Given the description of an element on the screen output the (x, y) to click on. 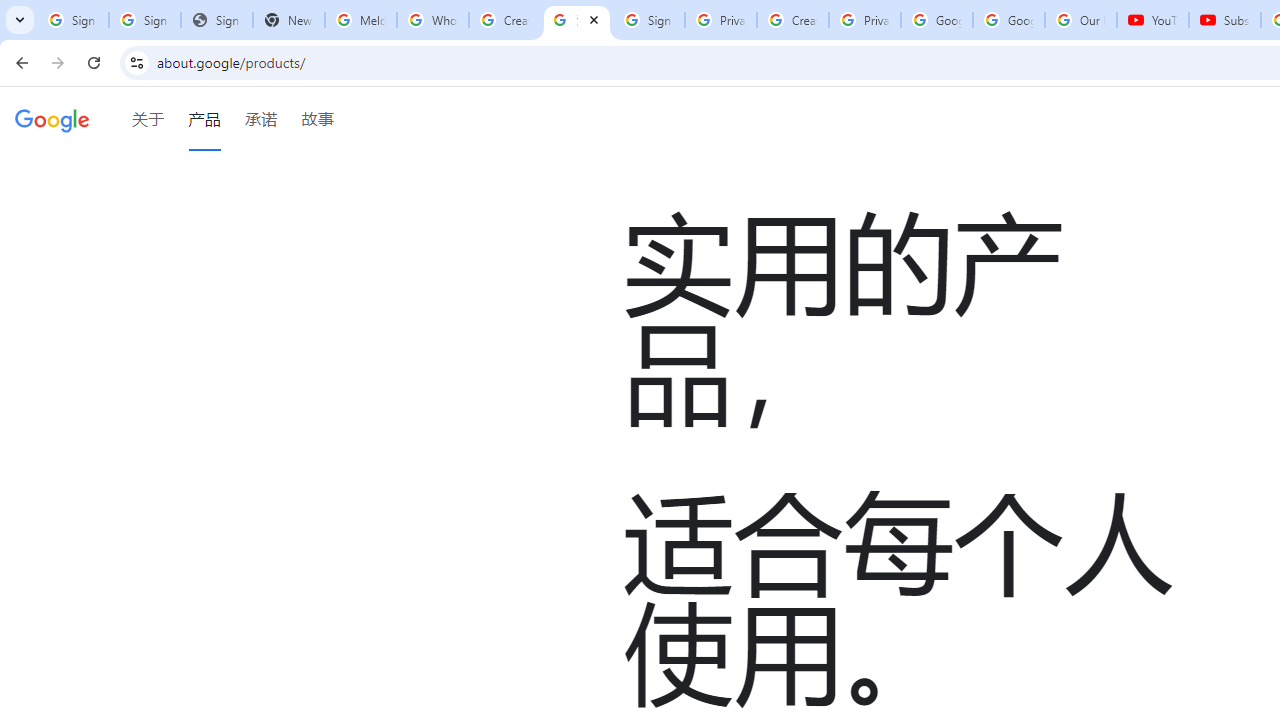
Reload (93, 62)
Sign in - Google Accounts (144, 20)
Sign in - Google Accounts (648, 20)
Search tabs (20, 20)
Subscriptions - YouTube (1224, 20)
Google (52, 119)
New Tab (289, 20)
Sign in - Google Accounts (72, 20)
Google Account (1008, 20)
Sign In - USA TODAY (216, 20)
